Given the description of an element on the screen output the (x, y) to click on. 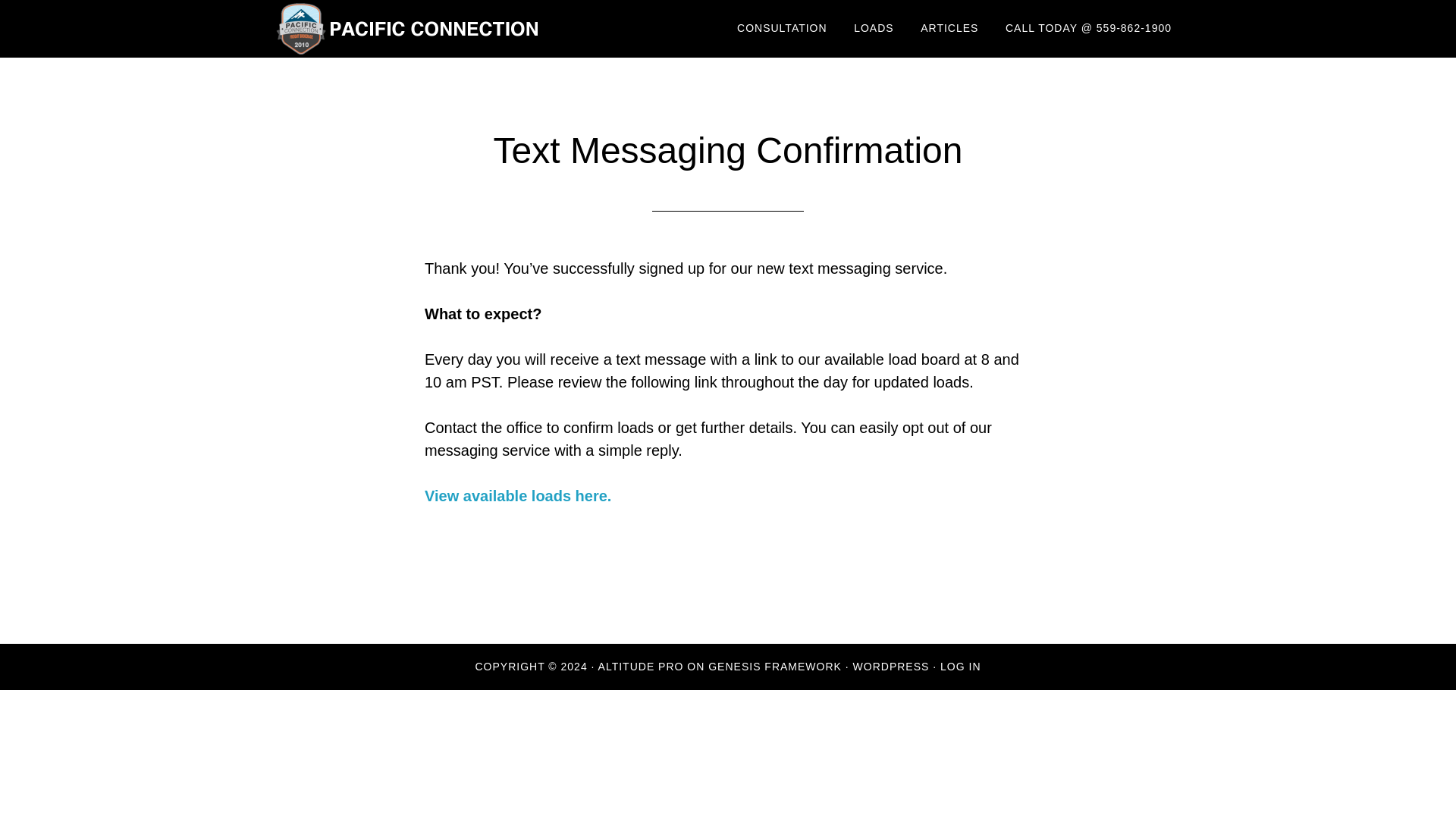
CONSULTATION (781, 28)
WORDPRESS (891, 666)
View available loads here. (518, 495)
LOG IN (959, 666)
GENESIS FRAMEWORK (774, 666)
PACIFIC CONNECTION (409, 28)
LOADS (873, 28)
ARTICLES (949, 28)
ALTITUDE PRO (641, 666)
